Given the description of an element on the screen output the (x, y) to click on. 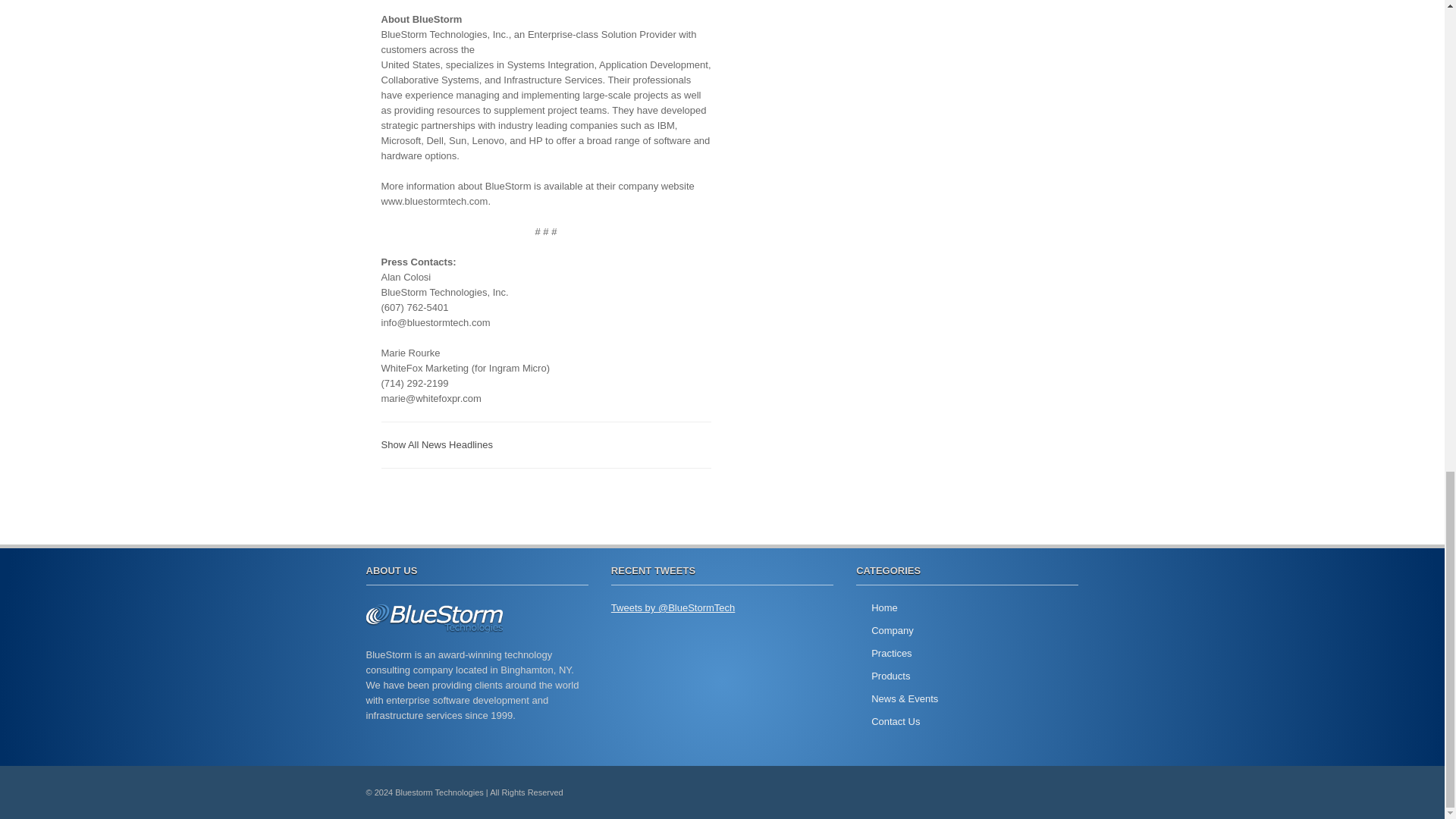
Products (890, 675)
Home (884, 607)
Company (892, 630)
Show All News Headlines (436, 444)
Contact Us (895, 721)
twitter (1025, 792)
facebook (1060, 792)
Practices (890, 653)
